Given the description of an element on the screen output the (x, y) to click on. 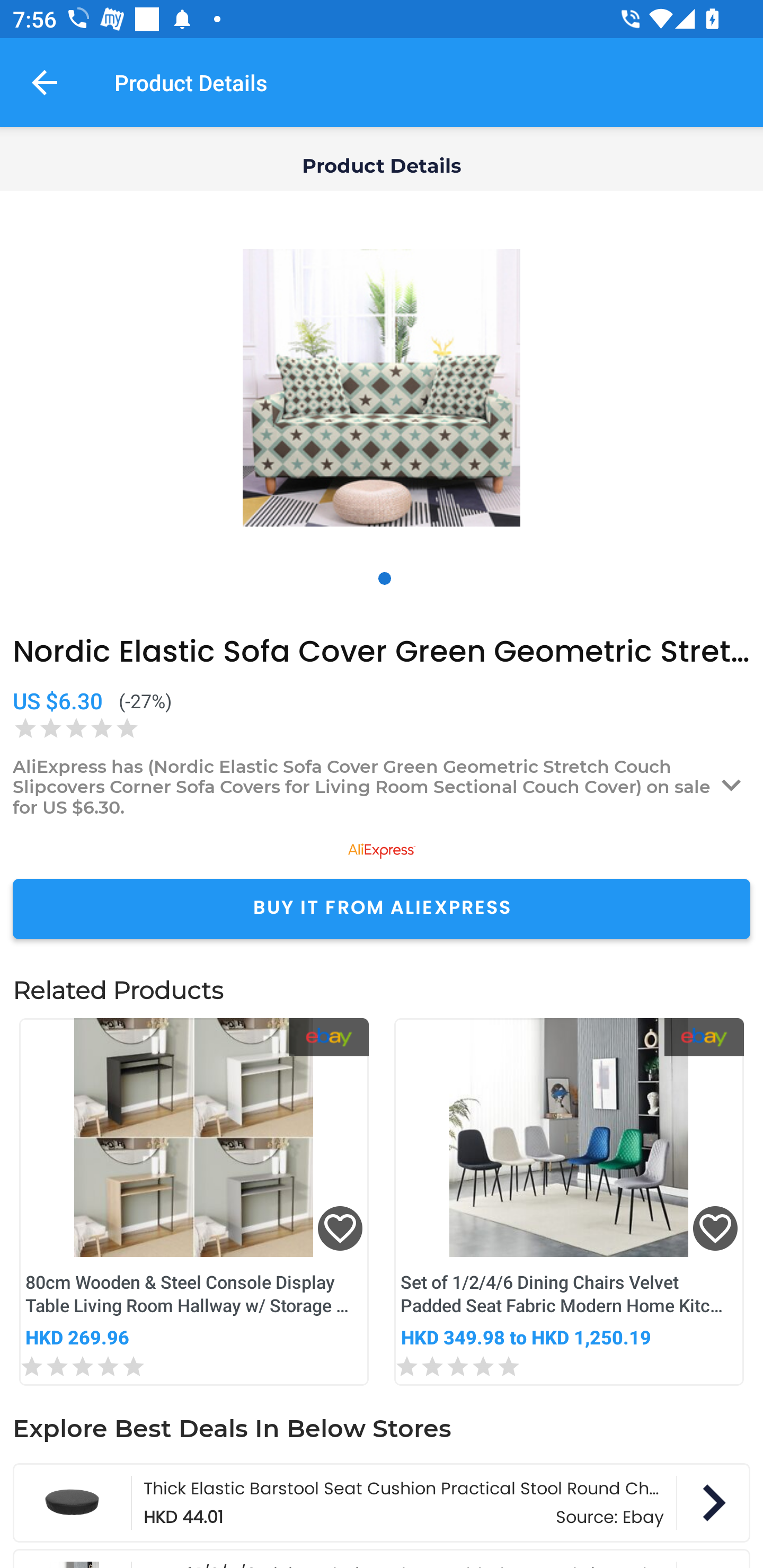
Navigate up (44, 82)
BUY IT FROM ALIEXPRESS (381, 908)
